Given the description of an element on the screen output the (x, y) to click on. 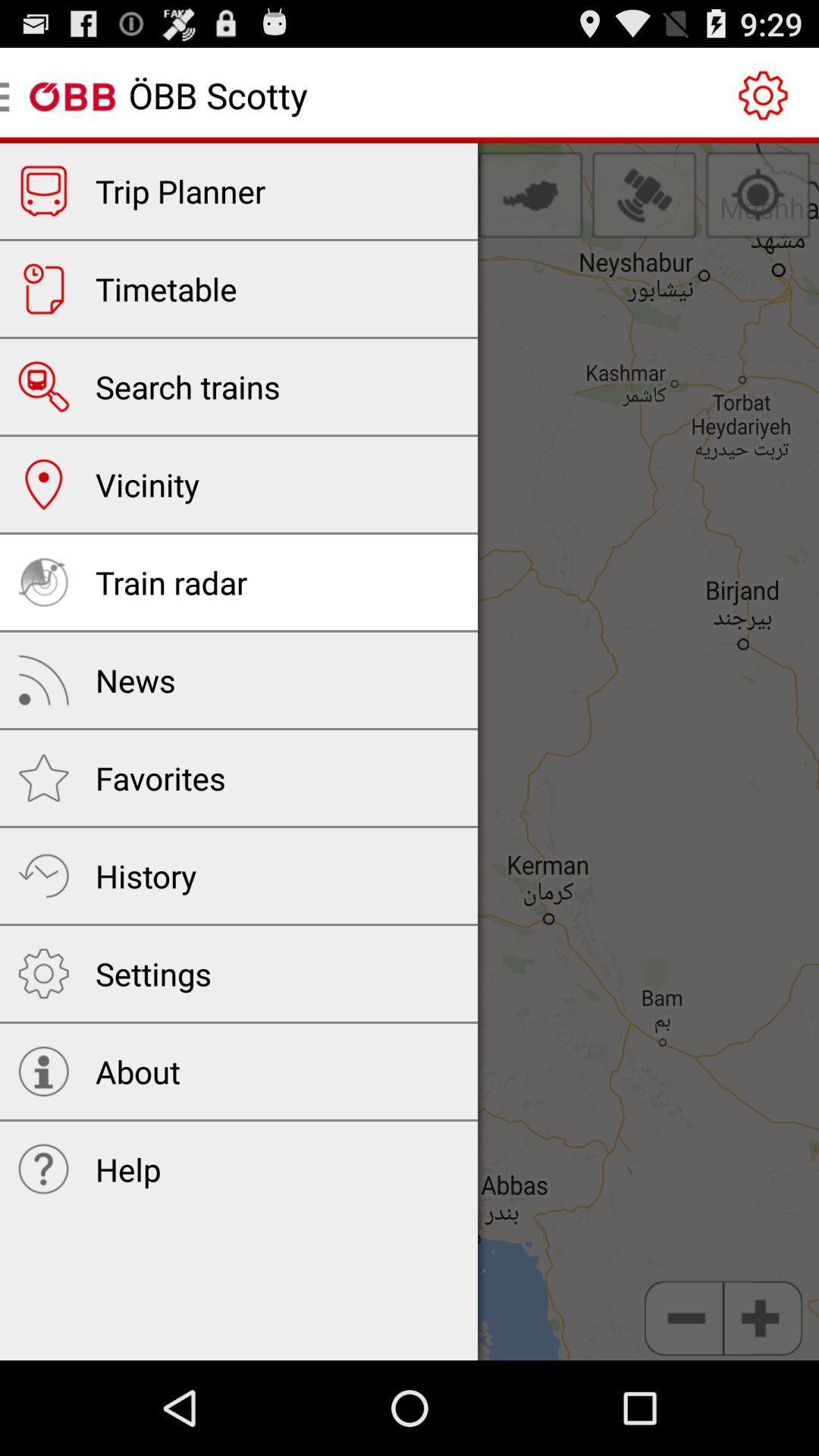
scroll until search trains icon (187, 386)
